Given the description of an element on the screen output the (x, y) to click on. 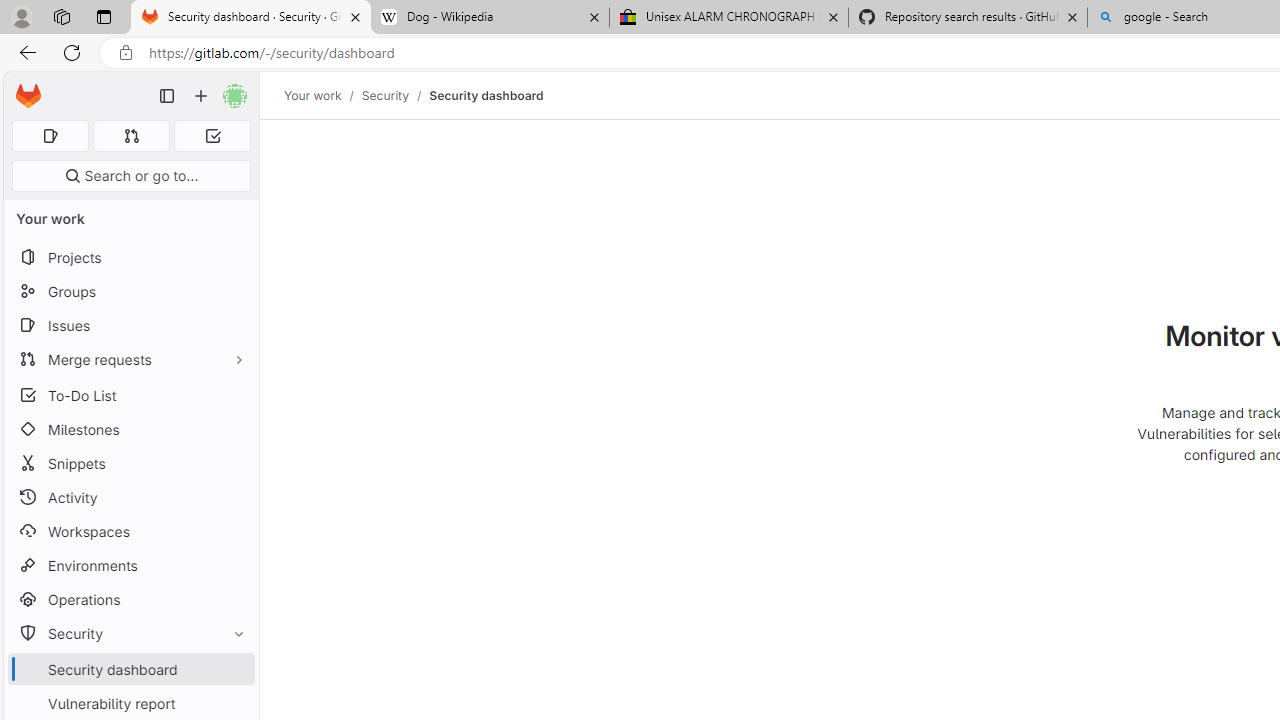
Security (384, 95)
To-Do List (130, 394)
Issues (130, 325)
Security/ (395, 95)
Activity (130, 497)
Vulnerability report (130, 703)
Groups (130, 291)
Milestones (130, 429)
